Given the description of an element on the screen output the (x, y) to click on. 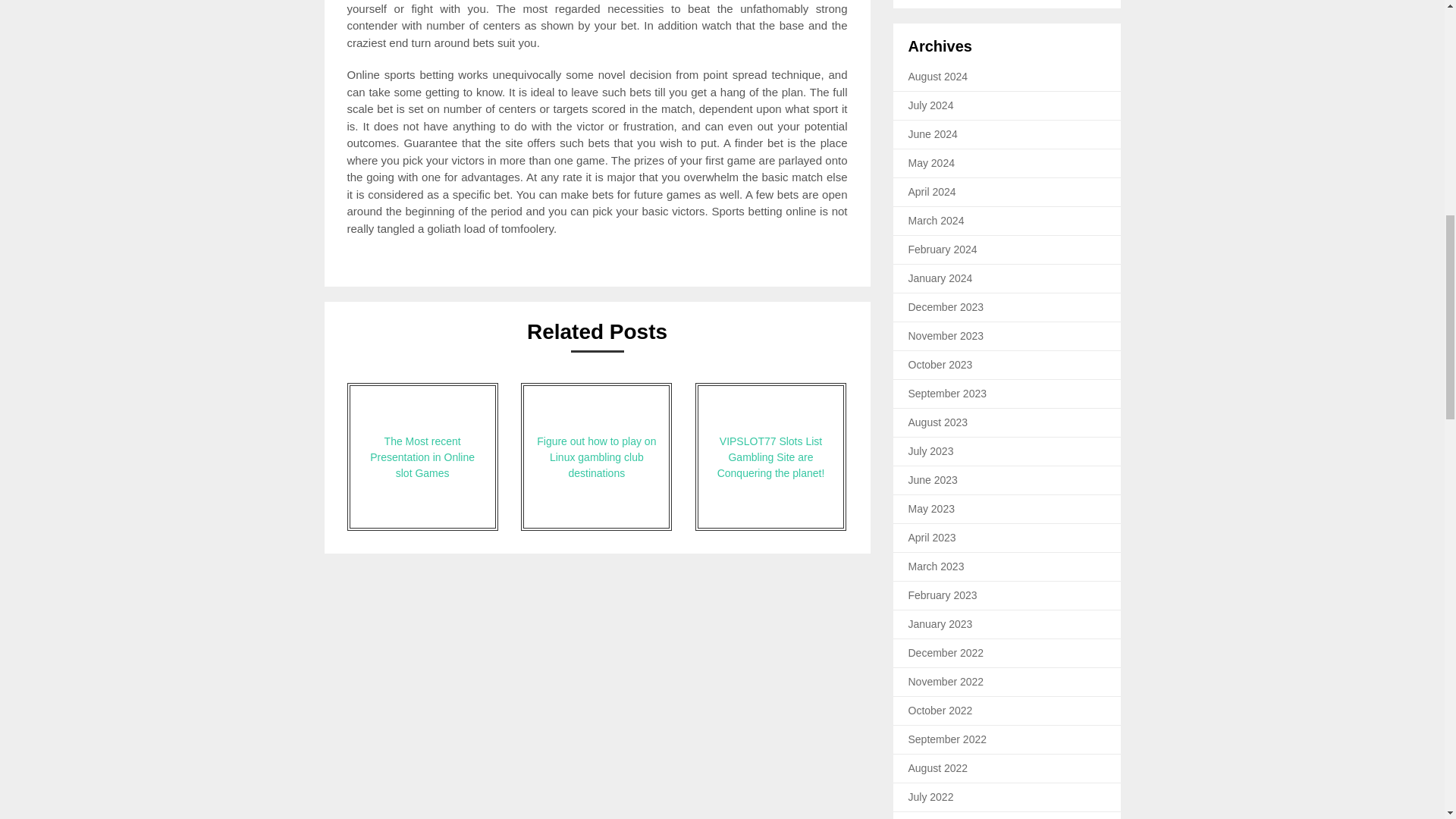
December 2023 (946, 306)
May 2023 (931, 508)
September 2023 (947, 393)
March 2024 (935, 220)
The Most recent Presentation in Online slot Games (422, 456)
Figure out how to play on Linux gambling club destinations (596, 456)
August 2024 (938, 76)
April 2024 (932, 191)
October 2023 (940, 364)
